Given the description of an element on the screen output the (x, y) to click on. 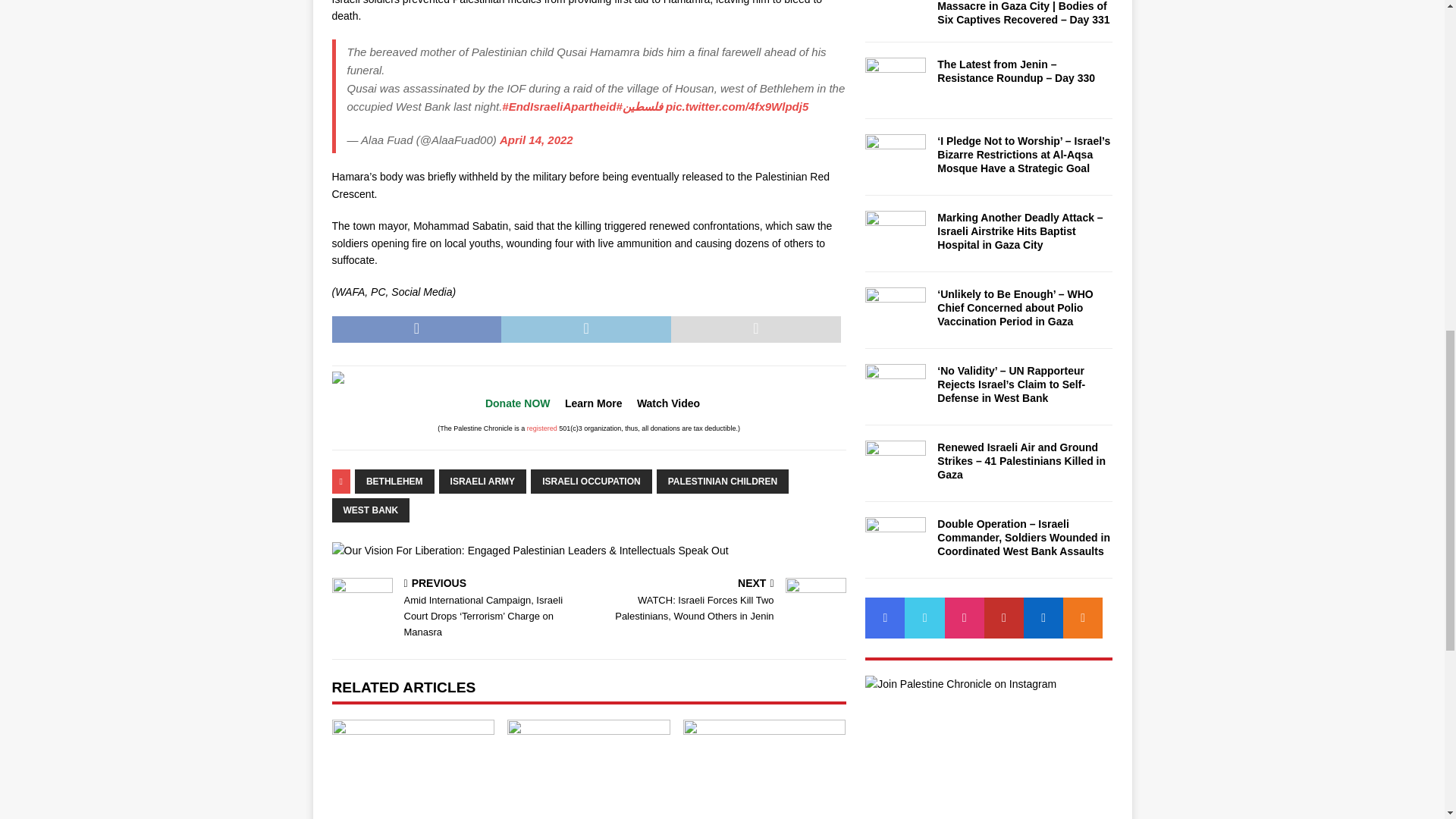
Donate NOW (517, 403)
April 14, 2022 (536, 139)
